Given the description of an element on the screen output the (x, y) to click on. 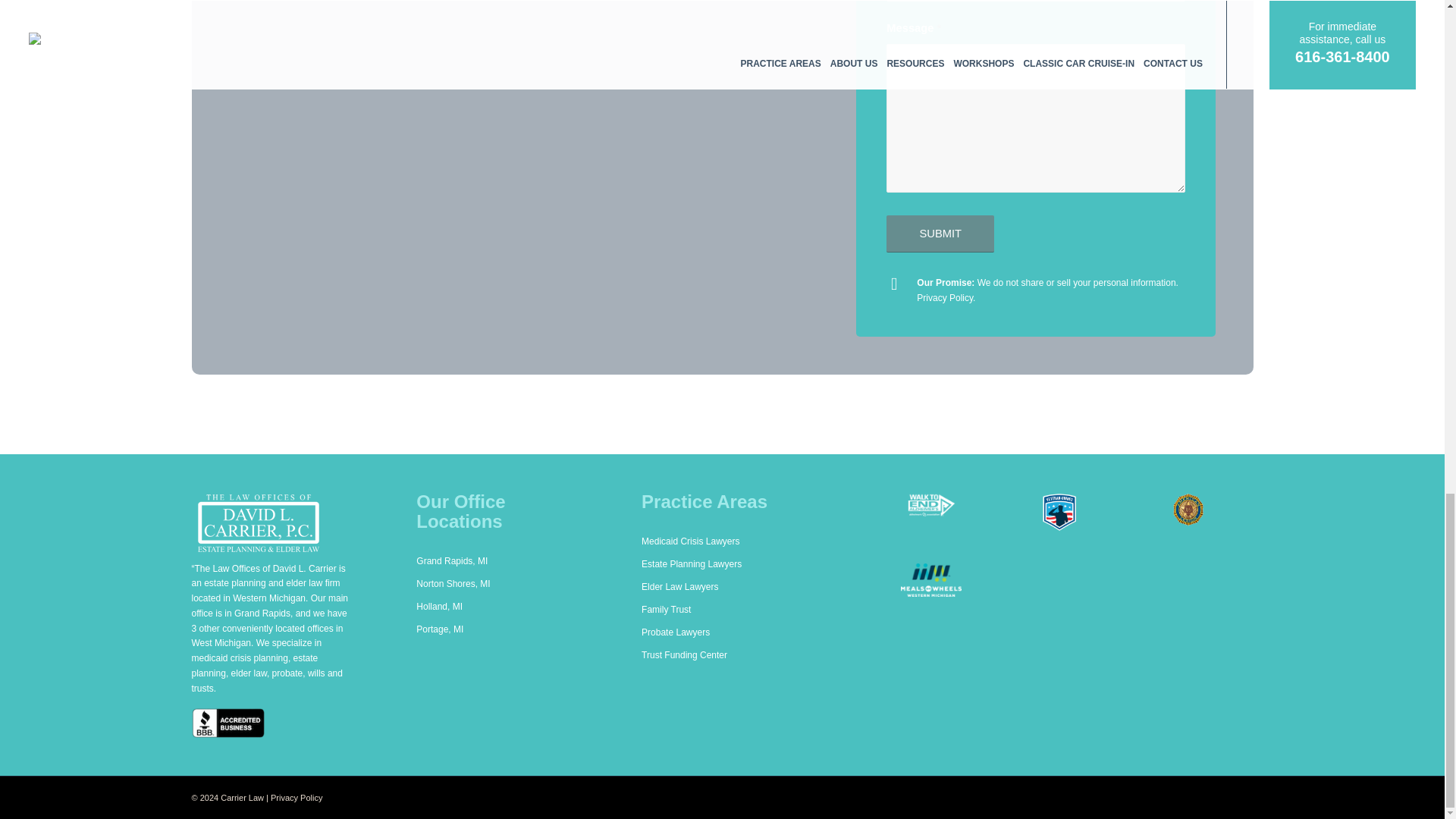
SUBMIT (940, 233)
